Given the description of an element on the screen output the (x, y) to click on. 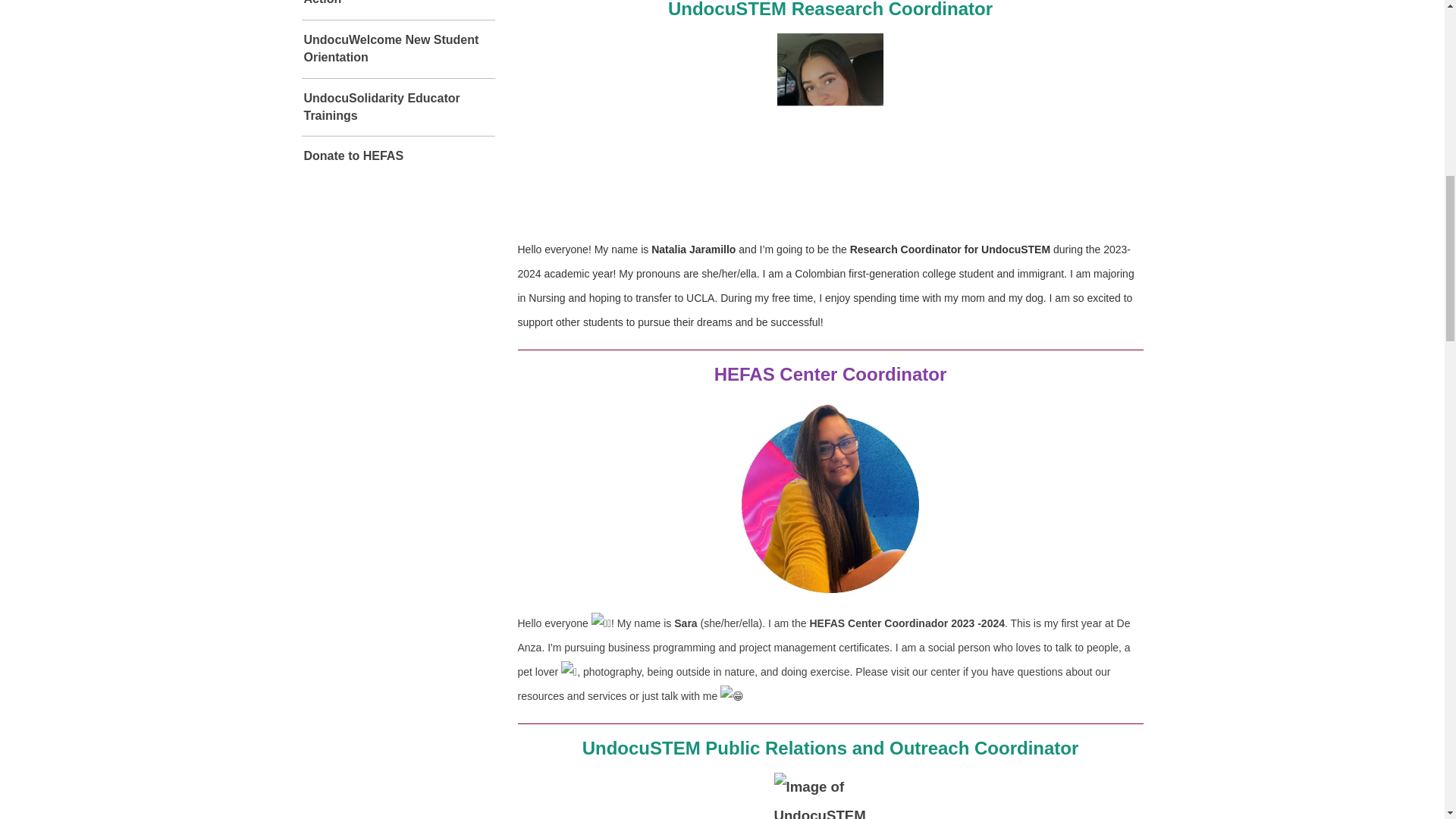
Undocumented Student Week of Action (398, 9)
UndocuSolidarity Educator Trainings (398, 107)
UndocuWelcome Orientation (398, 48)
UndocuSol (398, 107)
Donate to HEFAS (398, 156)
UndocuWelcome New Student Orientation (398, 48)
